Given the description of an element on the screen output the (x, y) to click on. 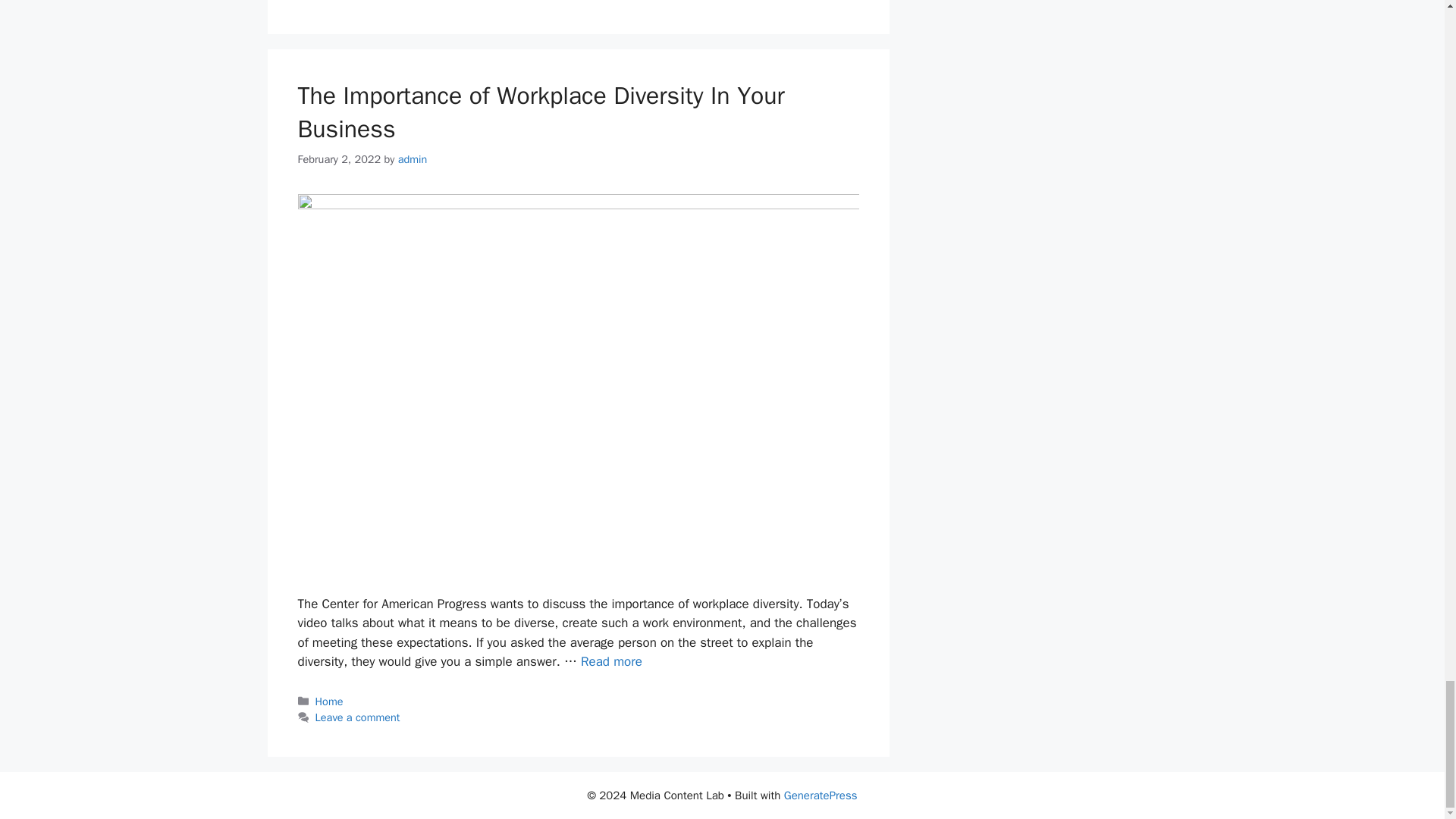
The Importance of Workplace Diversity In Your Business (611, 661)
View all posts by admin (412, 159)
